Given the description of an element on the screen output the (x, y) to click on. 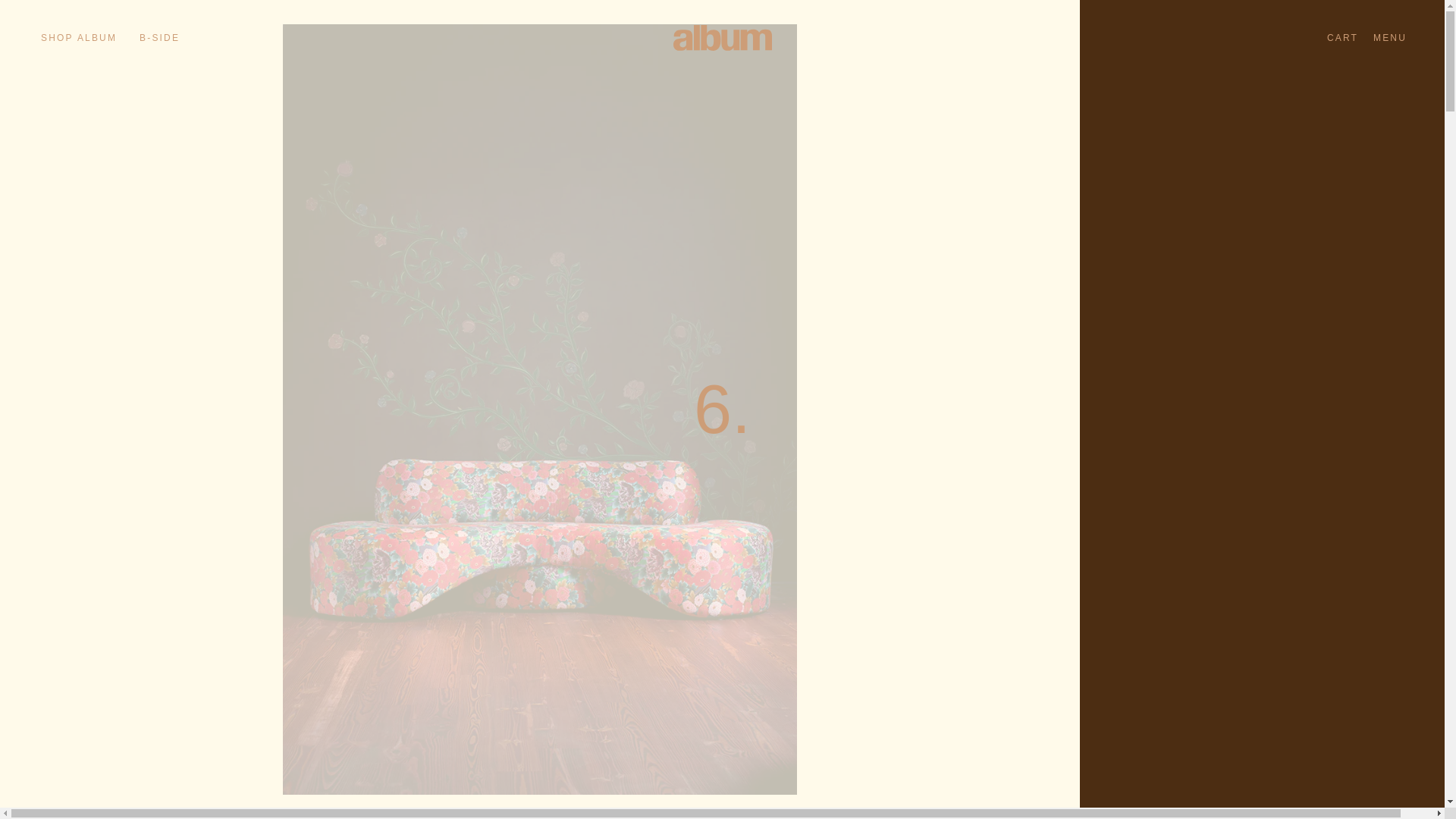
SHOP ALBUM (78, 37)
B-SIDE (157, 37)
CART (1342, 37)
